Given the description of an element on the screen output the (x, y) to click on. 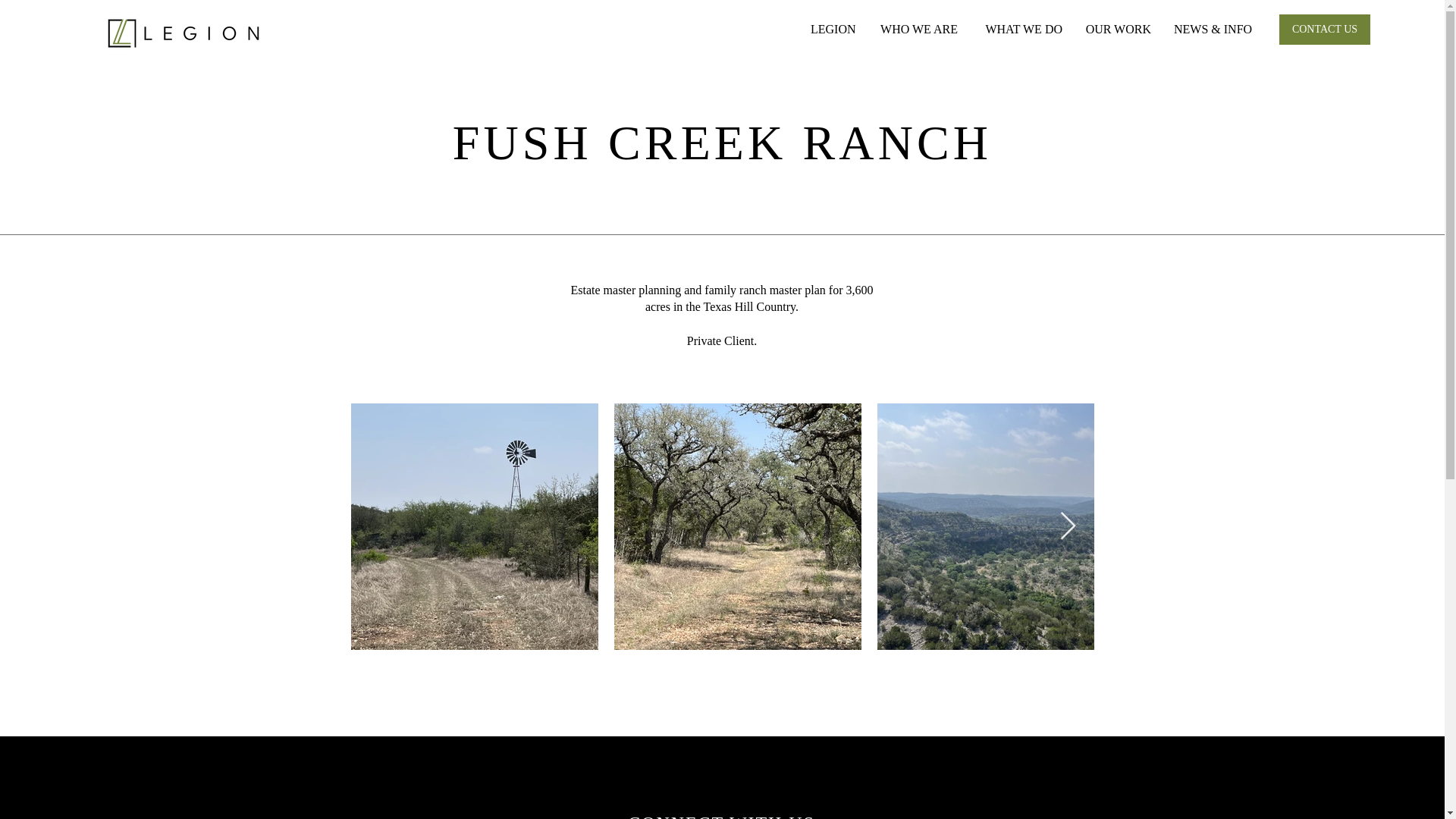
CONTACT US (1324, 29)
WHO WE ARE (917, 29)
LEGION (832, 29)
WHAT WE DO (1021, 29)
OUR WORK (1117, 29)
